Given the description of an element on the screen output the (x, y) to click on. 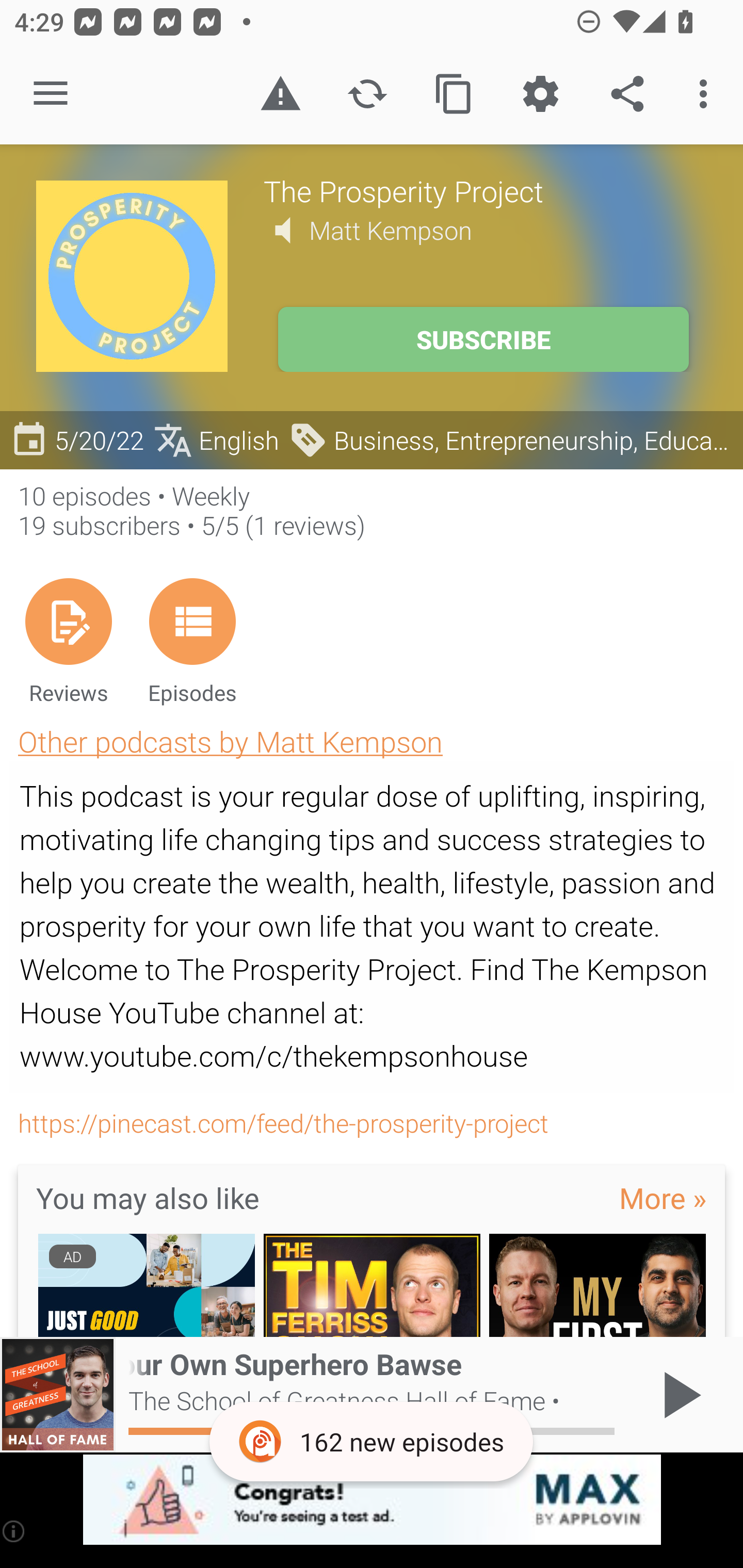
Open navigation sidebar (50, 93)
Report inappropriate content (280, 93)
Refresh podcast description (366, 93)
Copy feed url to clipboard (453, 93)
Custom Settings (540, 93)
Share the podcast (626, 93)
More options (706, 93)
The Prosperity Project (484, 190)
Matt Kempson (390, 230)
SUBSCRIBE (482, 339)
Reviews (68, 640)
Episodes (192, 640)
Other podcasts by Matt Kempson (229, 740)
More » (662, 1196)
Play / Pause (677, 1394)
app-monetization (371, 1500)
(i) (14, 1531)
